Given the description of an element on the screen output the (x, y) to click on. 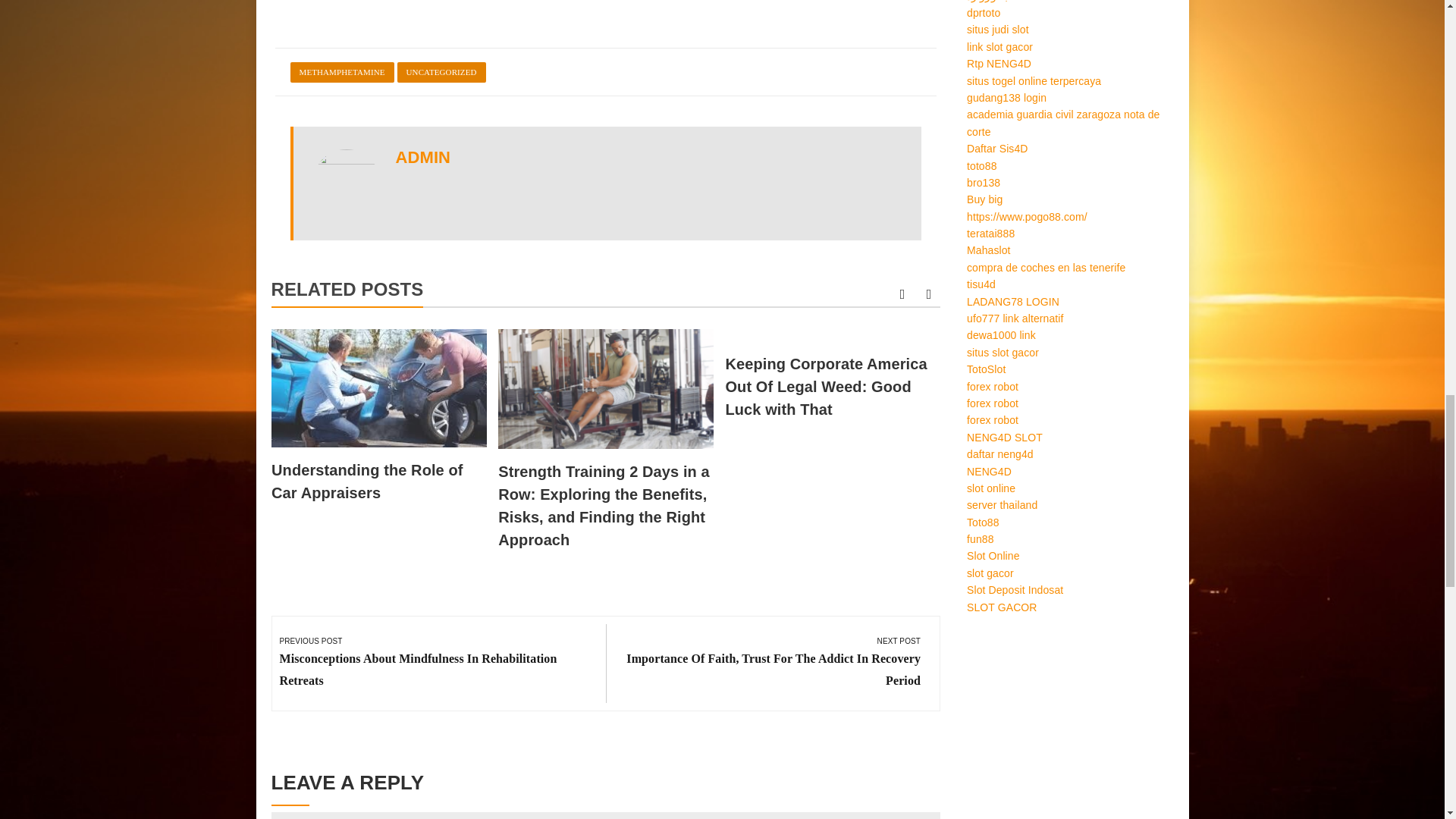
Understanding the Role of Car Appraisers (366, 481)
UNCATEGORIZED (441, 72)
Advertisement (605, 12)
METHAMPHETAMINE (341, 72)
ADMIN (423, 157)
